Given the description of an element on the screen output the (x, y) to click on. 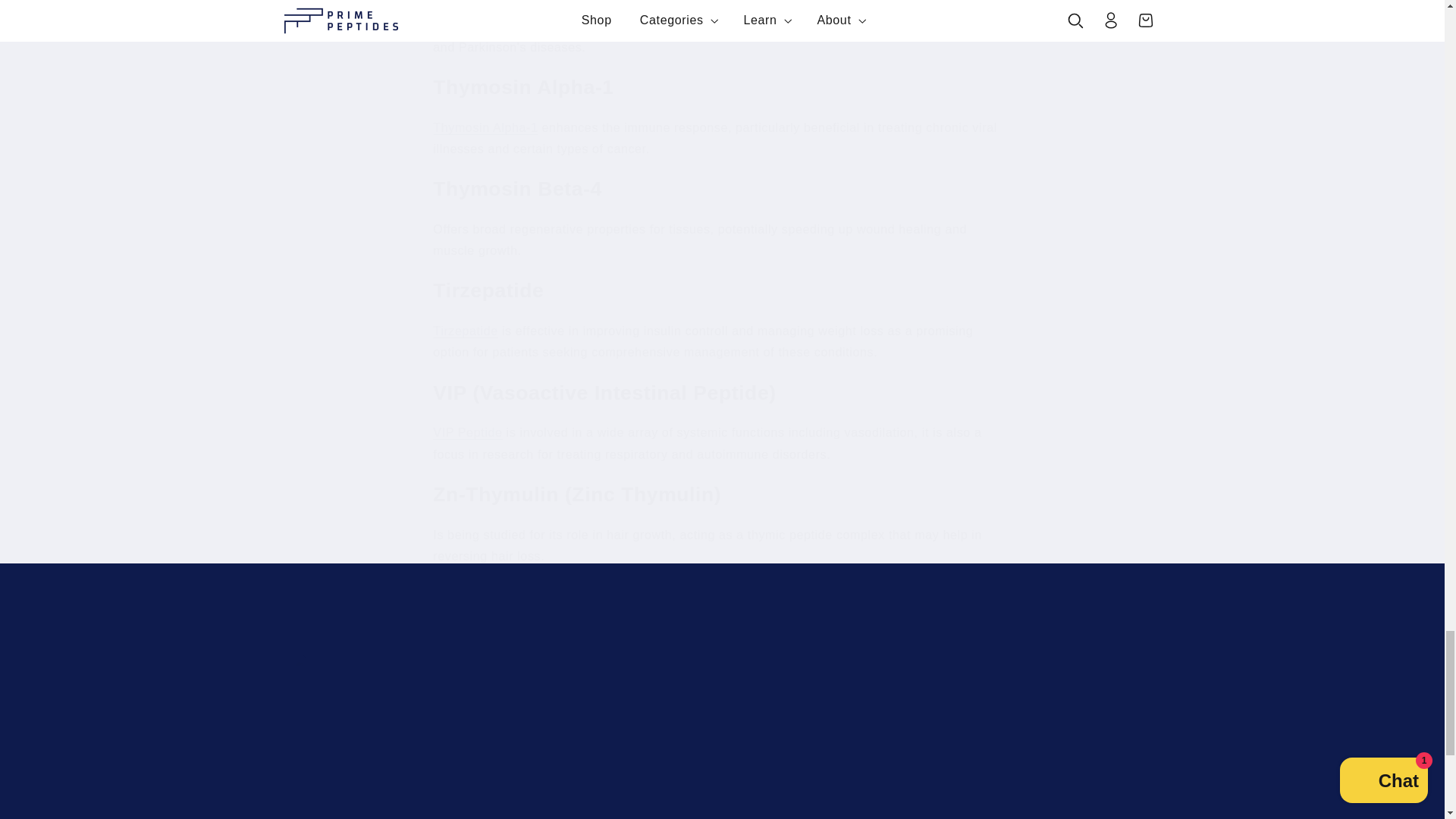
Buy Tirzepatide (464, 330)
Buy Thymosin Alpha-1 (831, 715)
VIP Peptide (484, 127)
